Given the description of an element on the screen output the (x, y) to click on. 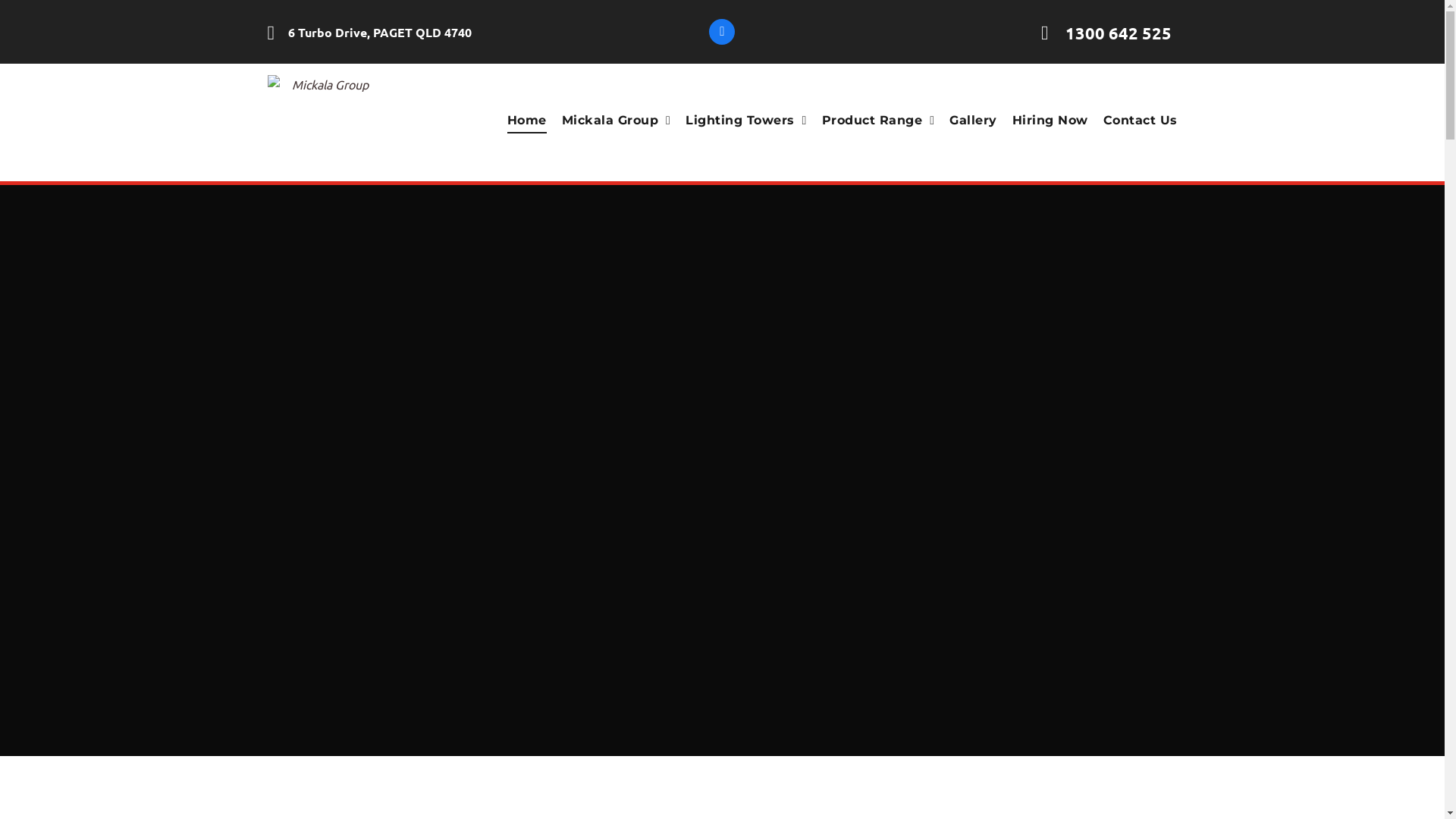
6 Turbo Drive, PAGET QLD 4740 Element type: text (395, 31)
Mickala Group Element type: text (608, 120)
Contact Us Element type: text (1132, 120)
Product Range Element type: text (870, 120)
Mickala Group Element type: hover (323, 122)
Home Element type: text (519, 120)
Lighting Towers Element type: text (738, 120)
Hiring Now Element type: text (1042, 120)
Gallery Element type: text (965, 120)
1300 642 525 Element type: text (1093, 31)
